Given the description of an element on the screen output the (x, y) to click on. 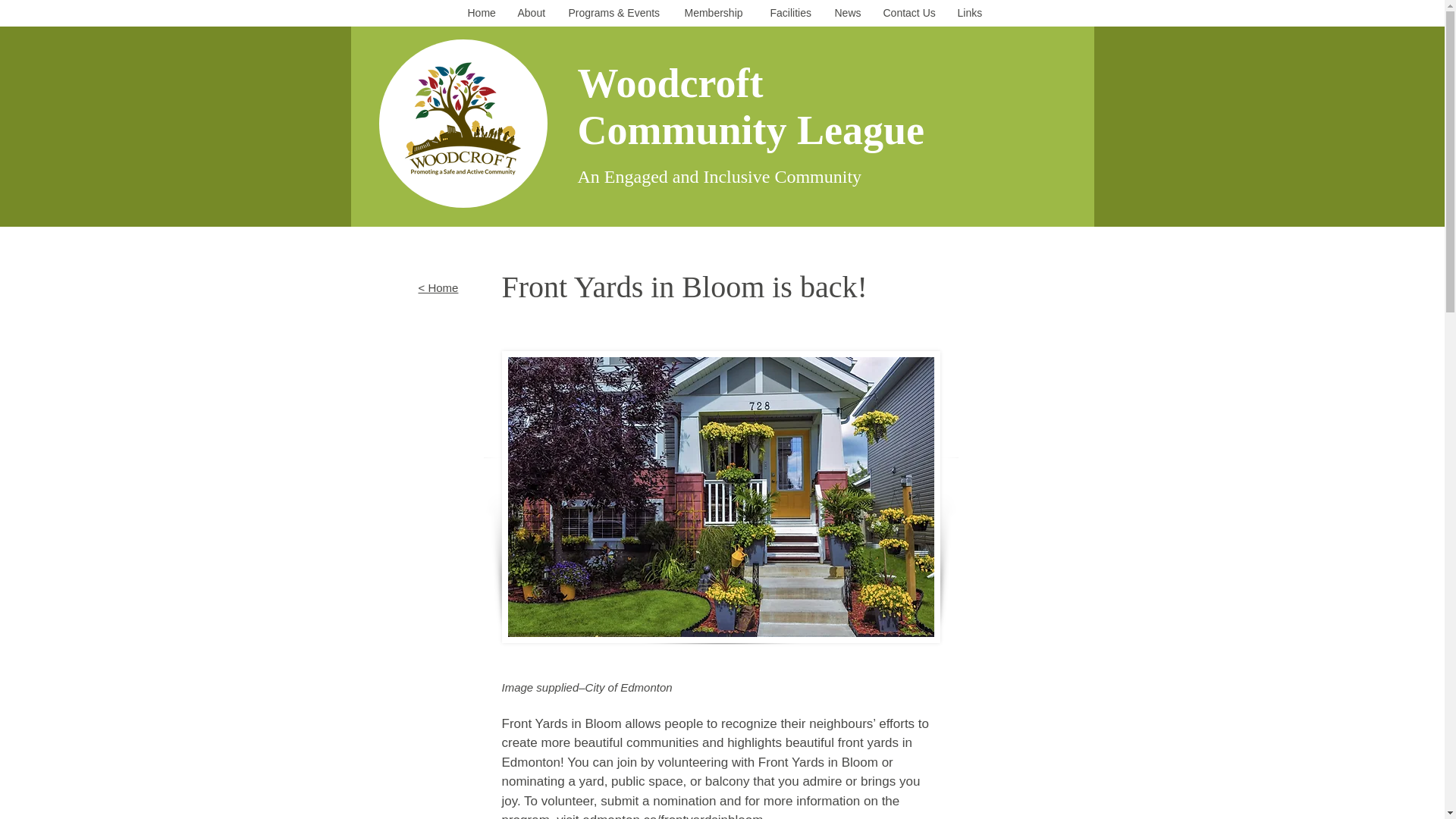
About (534, 12)
Links (971, 12)
News (851, 12)
Membership (719, 12)
Home (484, 12)
Contact Us (912, 12)
Facilities (794, 12)
Yards in Bloom copy.jpg (721, 496)
